Given the description of an element on the screen output the (x, y) to click on. 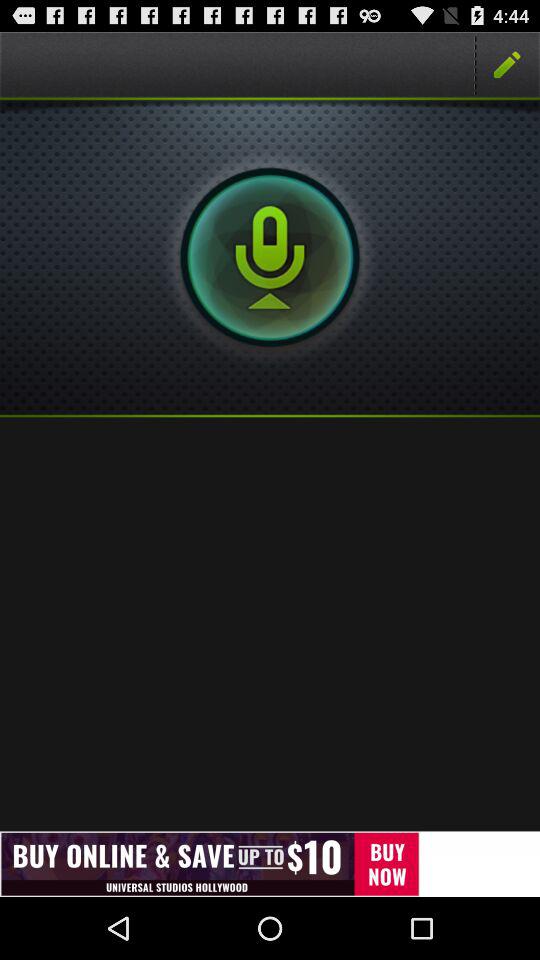
activate microphone (270, 257)
